Given the description of an element on the screen output the (x, y) to click on. 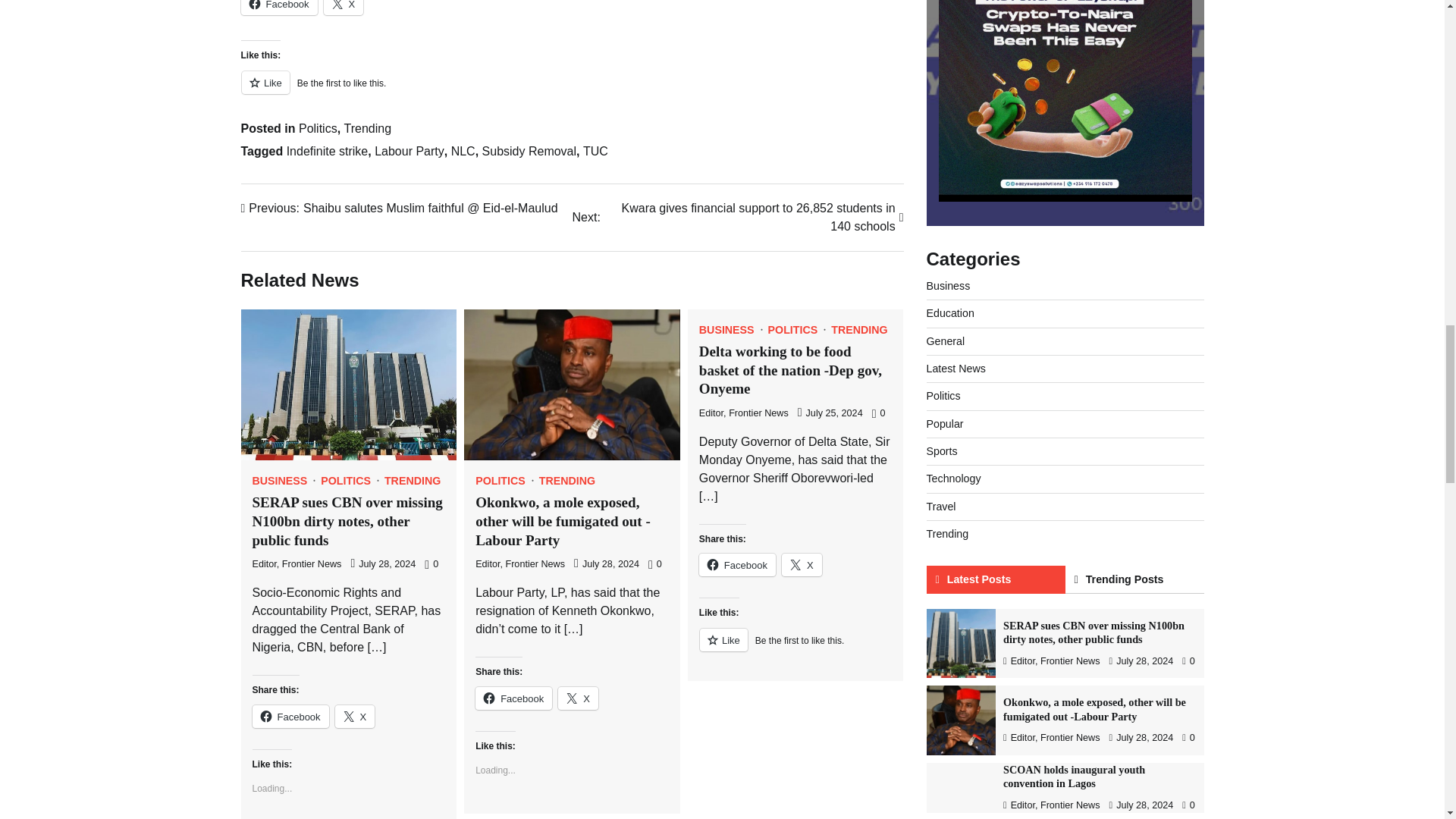
Click to share on Facebook (279, 7)
Politics (317, 128)
POLITICS (350, 480)
Like or Reblog (795, 648)
X (343, 7)
Click to share on Facebook (737, 564)
Click to share on X (343, 7)
Click to share on Facebook (290, 716)
TRENDING (412, 480)
Subsidy Removal (528, 151)
Like or Reblog (572, 91)
Editor, Frontier News (295, 563)
NLC (463, 151)
Facebook (279, 7)
Click to share on Facebook (513, 698)
